Given the description of an element on the screen output the (x, y) to click on. 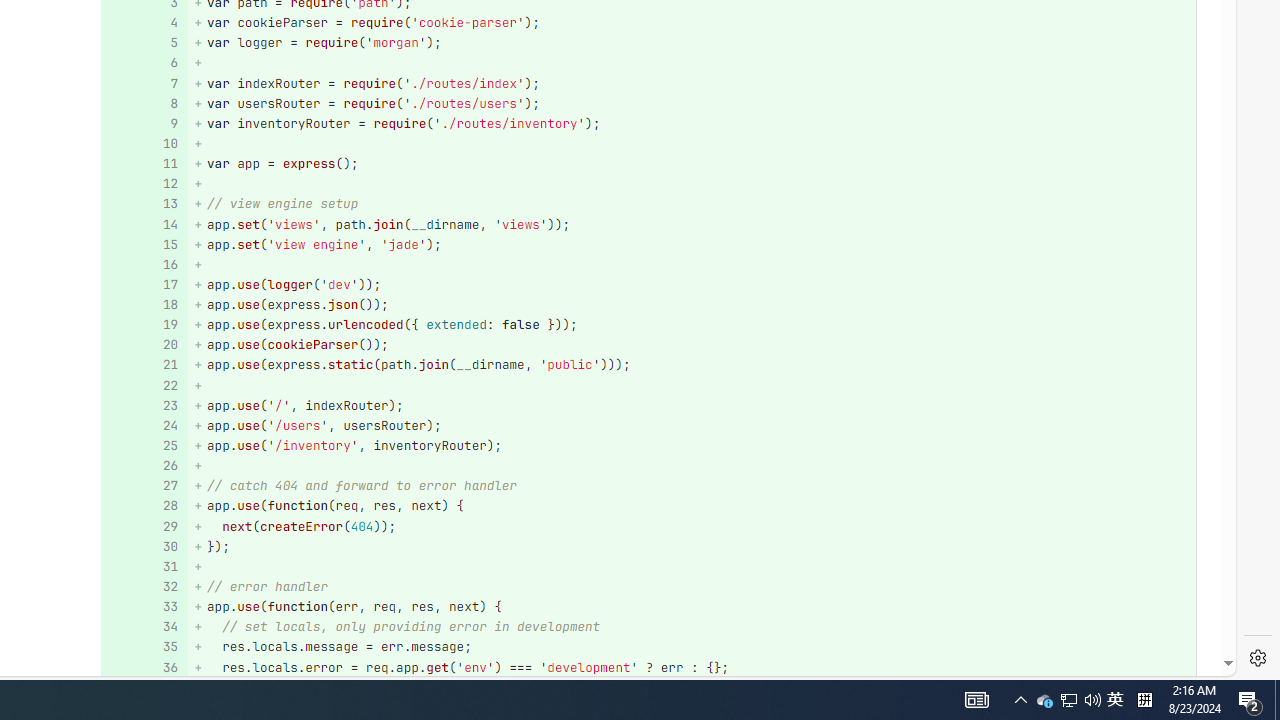
Add a comment to this line 23 (144, 405)
+ var cookieParser = require('cookie-parser');  (691, 22)
+ // view engine setup  (691, 204)
Add a comment to this line 34 (144, 627)
Add a comment to this line 14 (144, 223)
Add a comment to this line 18 (144, 305)
+ app.use('/users', usersRouter);  (691, 425)
Add a comment to this line 6 (144, 63)
+  (691, 566)
+ var usersRouter = require('./routes/users');  (691, 102)
+ app.use('/', indexRouter);  (691, 405)
Add a comment to this line 22 (144, 385)
Add a comment to this line 17 (144, 284)
